Given the description of an element on the screen output the (x, y) to click on. 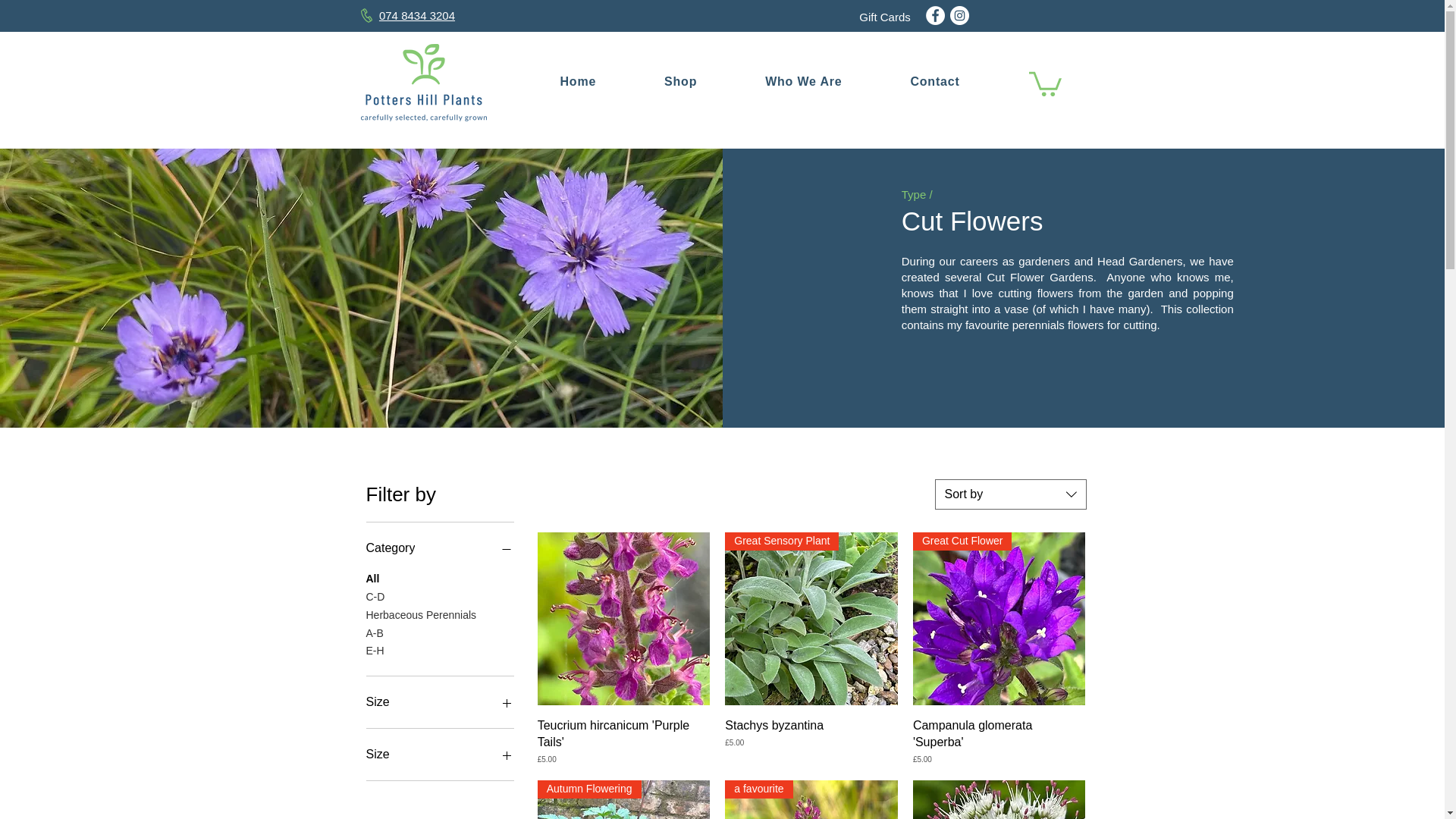
Great Cut Flower (999, 618)
Size (439, 753)
074 8434 3204 (416, 15)
Sort by (1010, 494)
Home (578, 81)
Who We Are (802, 81)
Contact (934, 81)
Gift Cards (885, 16)
Category (439, 547)
Size (439, 701)
